Given the description of an element on the screen output the (x, y) to click on. 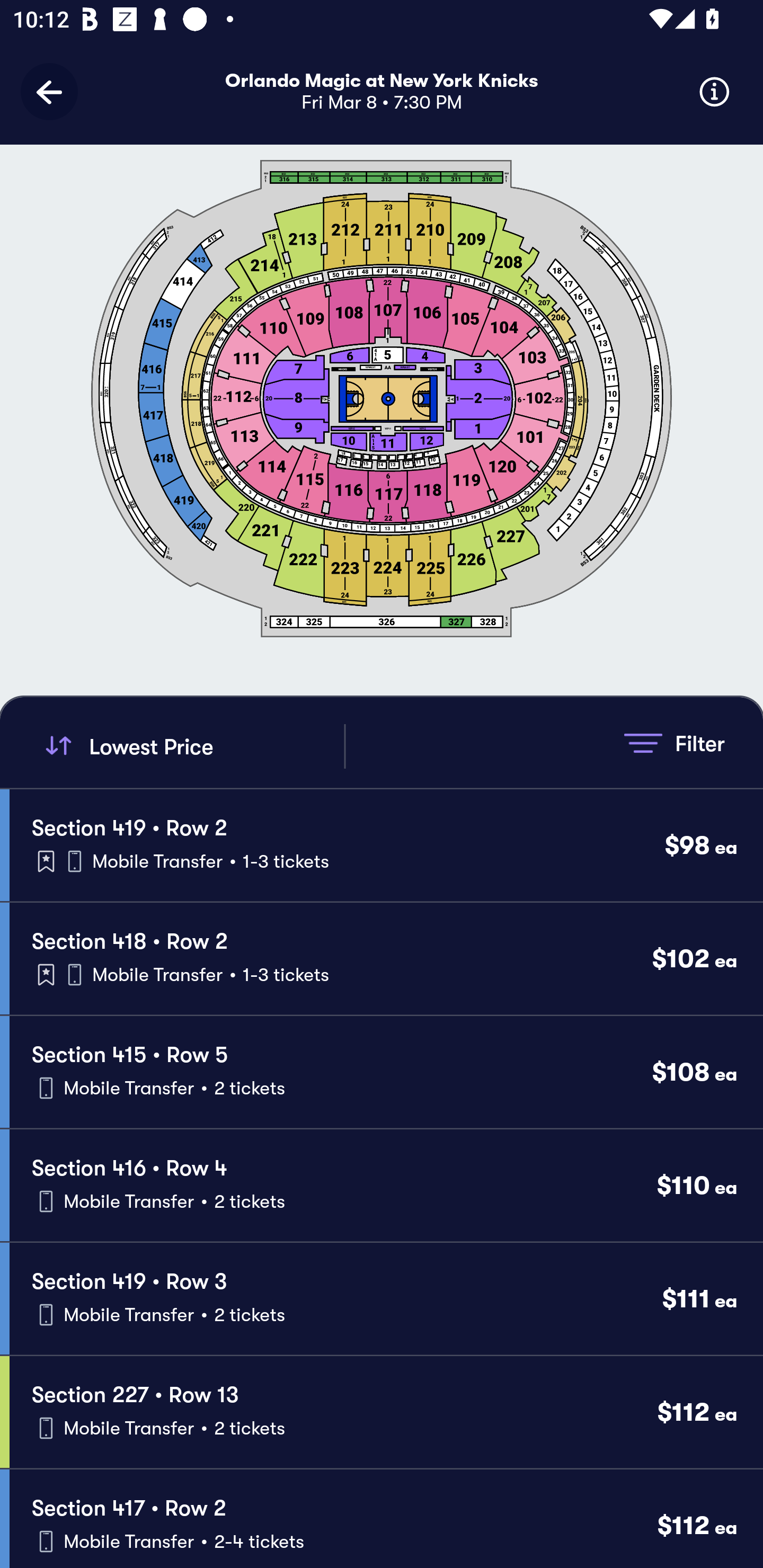
Lowest Price (191, 746)
Filter (674, 743)
